Given the description of an element on the screen output the (x, y) to click on. 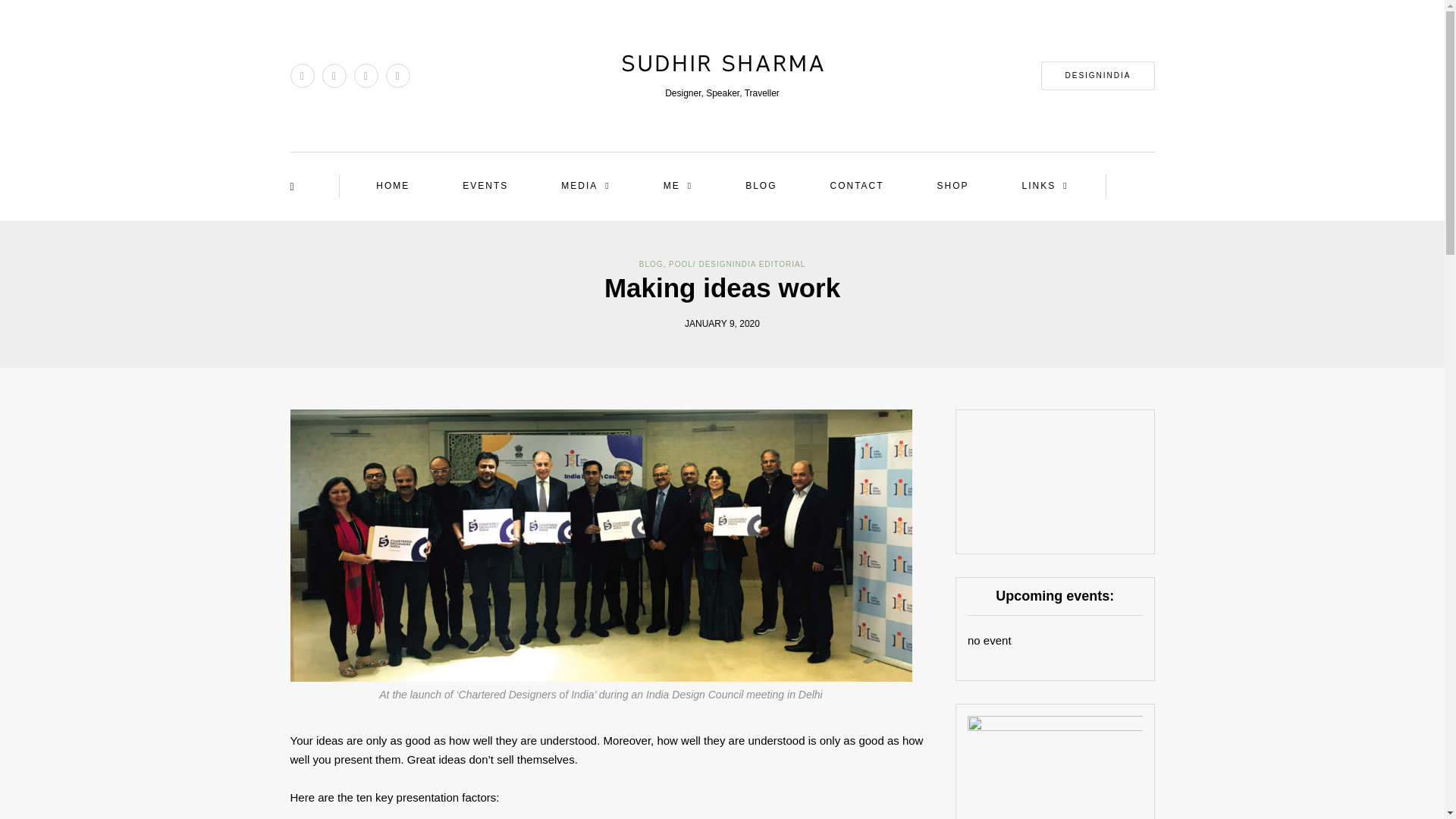
DESIGNINDIA (1097, 75)
BLOG (651, 264)
BLOG (760, 186)
SHOP (952, 186)
EVENTS (485, 186)
LINKS (1044, 186)
ME (677, 186)
HOME (392, 186)
MEDIA (584, 186)
CONTACT (855, 186)
